Given the description of an element on the screen output the (x, y) to click on. 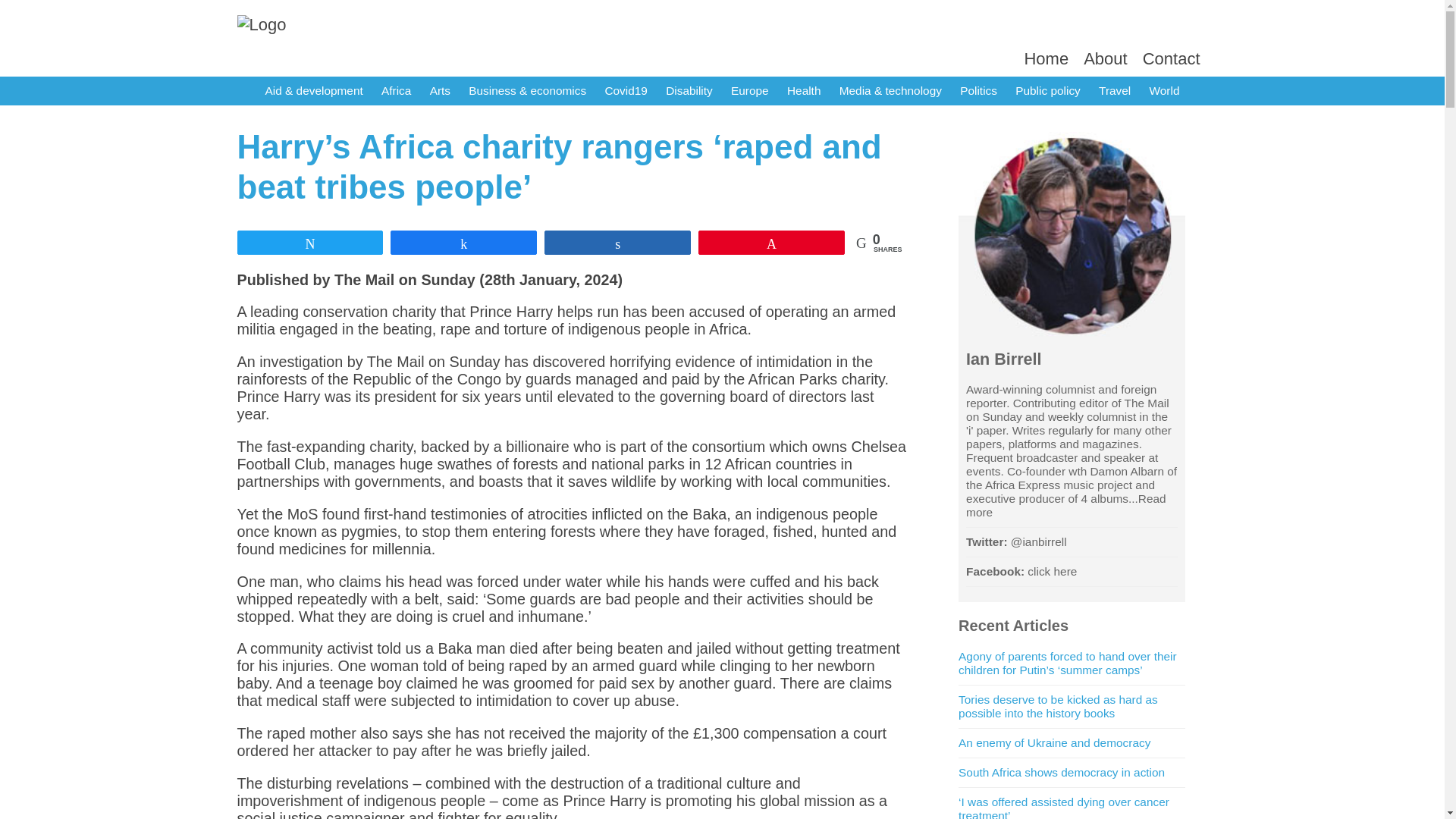
Covid19 (625, 90)
Africa (395, 90)
Contact (1170, 58)
Home (1045, 58)
Disability (689, 90)
Arts (439, 90)
About (1104, 58)
